Given the description of an element on the screen output the (x, y) to click on. 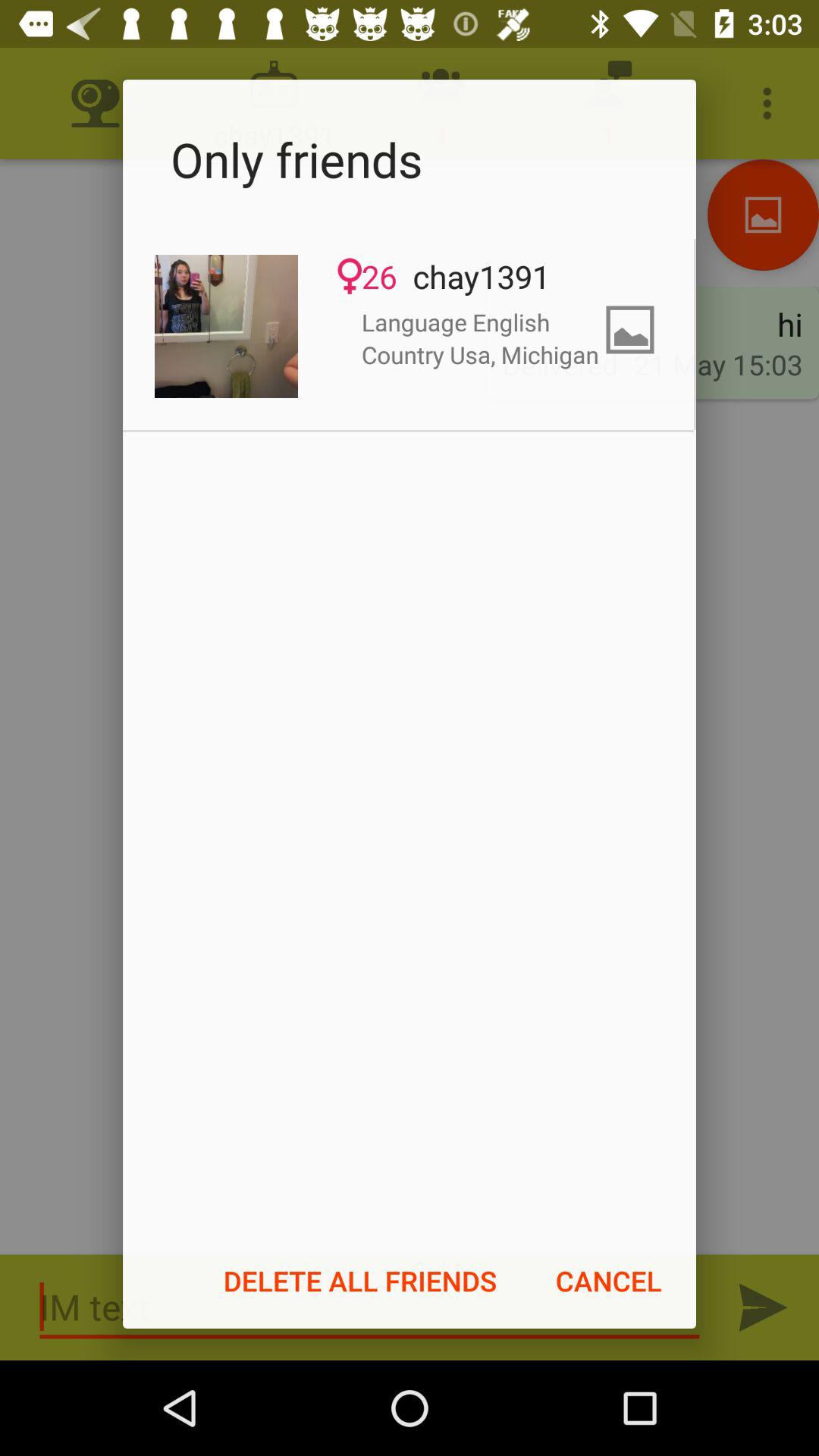
turn off icon above the delete all friends icon (226, 326)
